Given the description of an element on the screen output the (x, y) to click on. 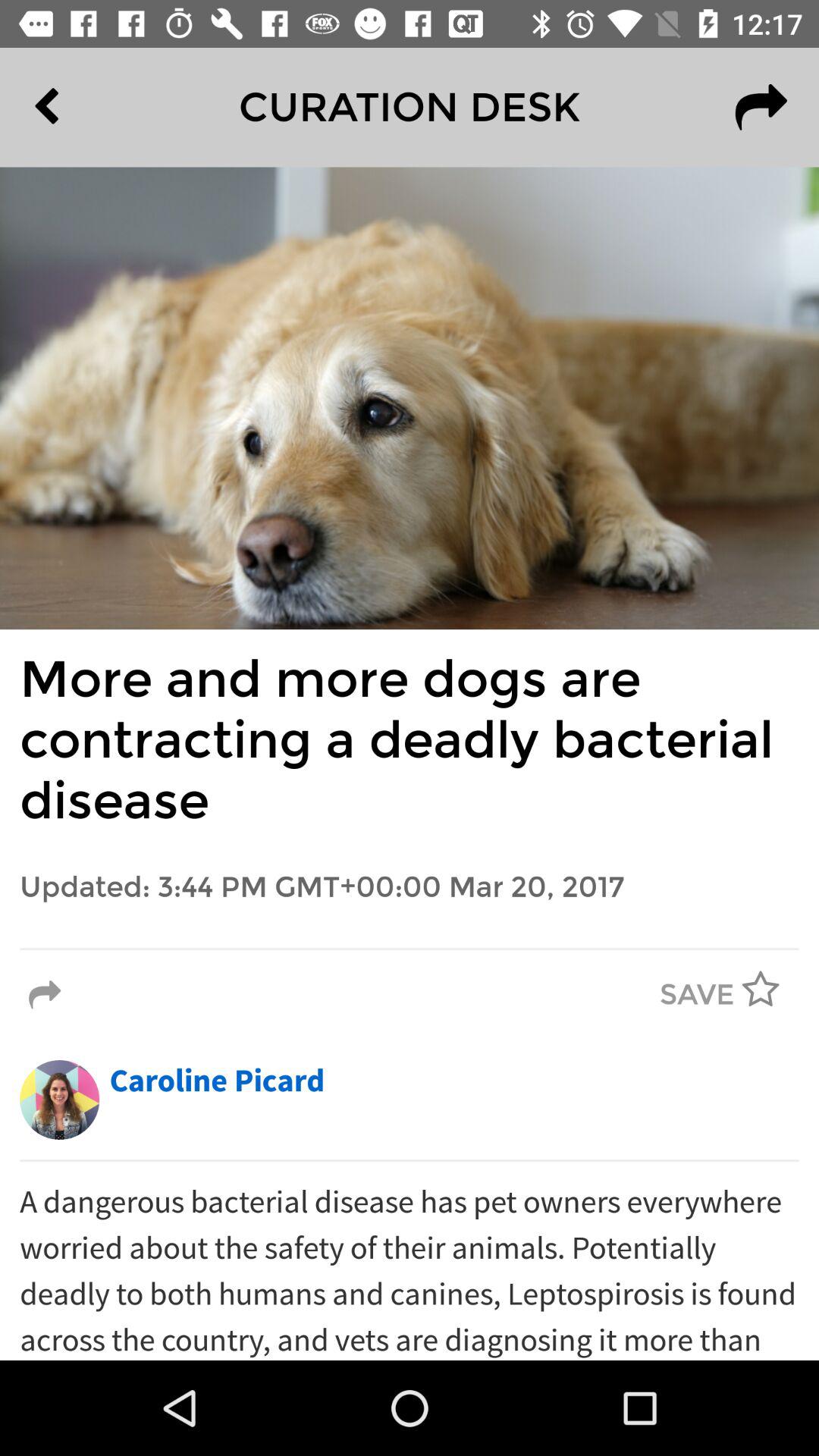
click icon below updated 3 44 item (409, 949)
